Given the description of an element on the screen output the (x, y) to click on. 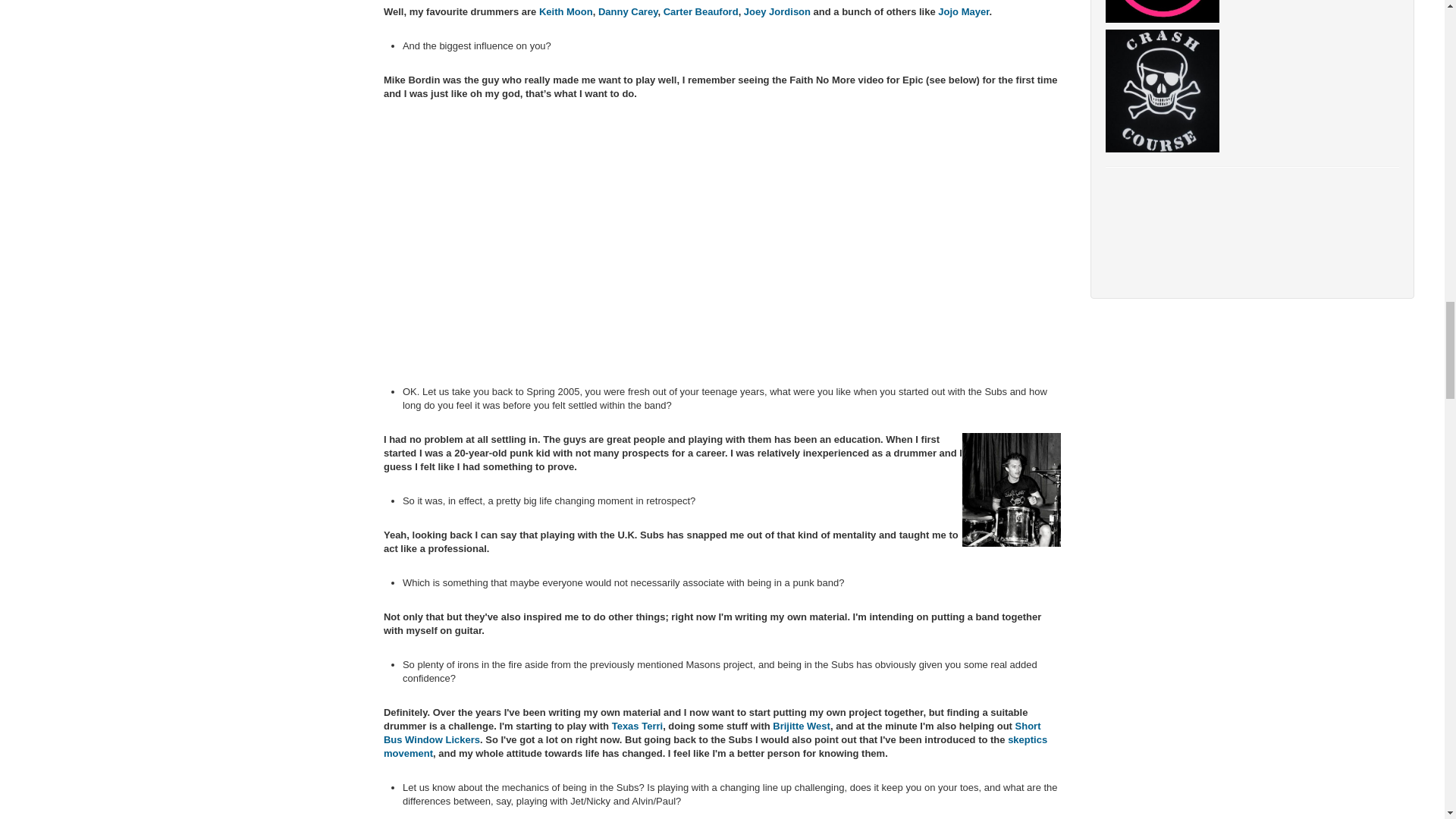
JoomlaWorks AllVideos Player (721, 241)
